Given the description of an element on the screen output the (x, y) to click on. 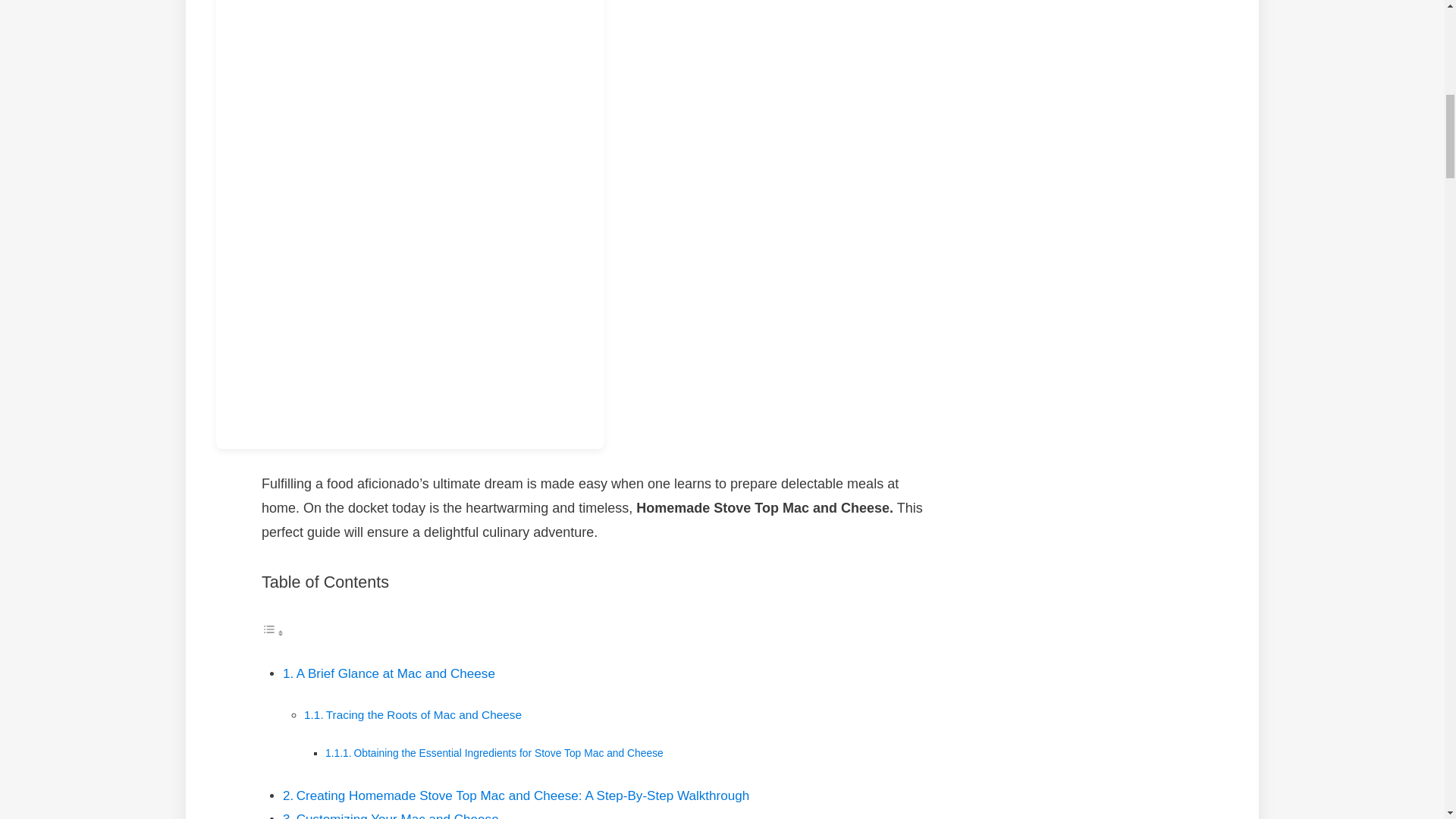
Customizing Your Mac and Cheese (398, 815)
Tracing the Roots of Mac and Cheese (423, 714)
Tracing the Roots of Mac and Cheese (423, 714)
A Brief Glance at Mac and Cheese (396, 673)
A Brief Glance at Mac and Cheese (396, 673)
Scroll back to top (1406, 720)
Customizing Your Mac and Cheese (398, 815)
